Given the description of an element on the screen output the (x, y) to click on. 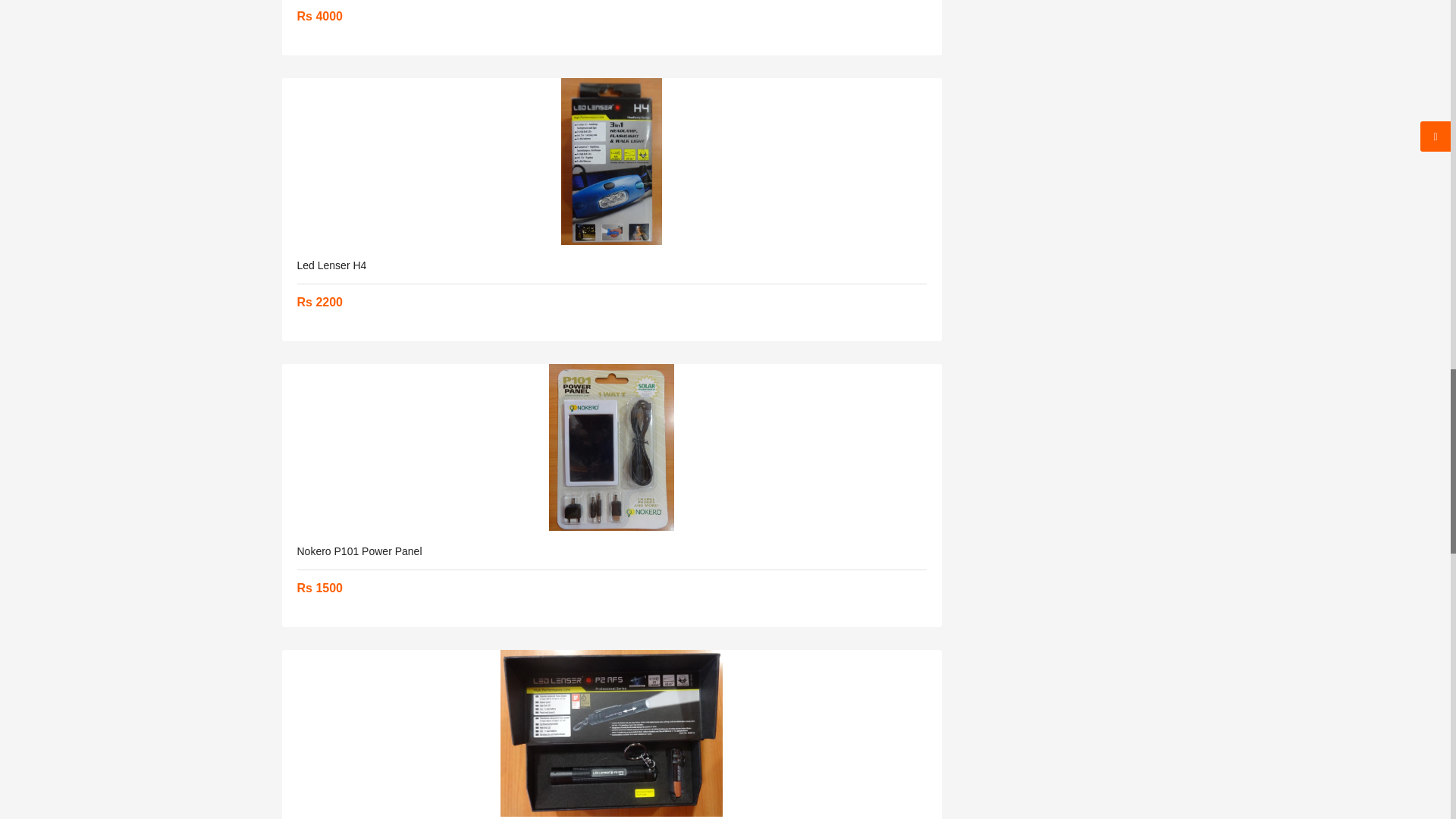
Nokero P101 Power Panel (612, 446)
Led Lenser 8402 - A (612, 733)
Led Lenser H4 (612, 160)
Led Lenser H4 (331, 265)
